Given the description of an element on the screen output the (x, y) to click on. 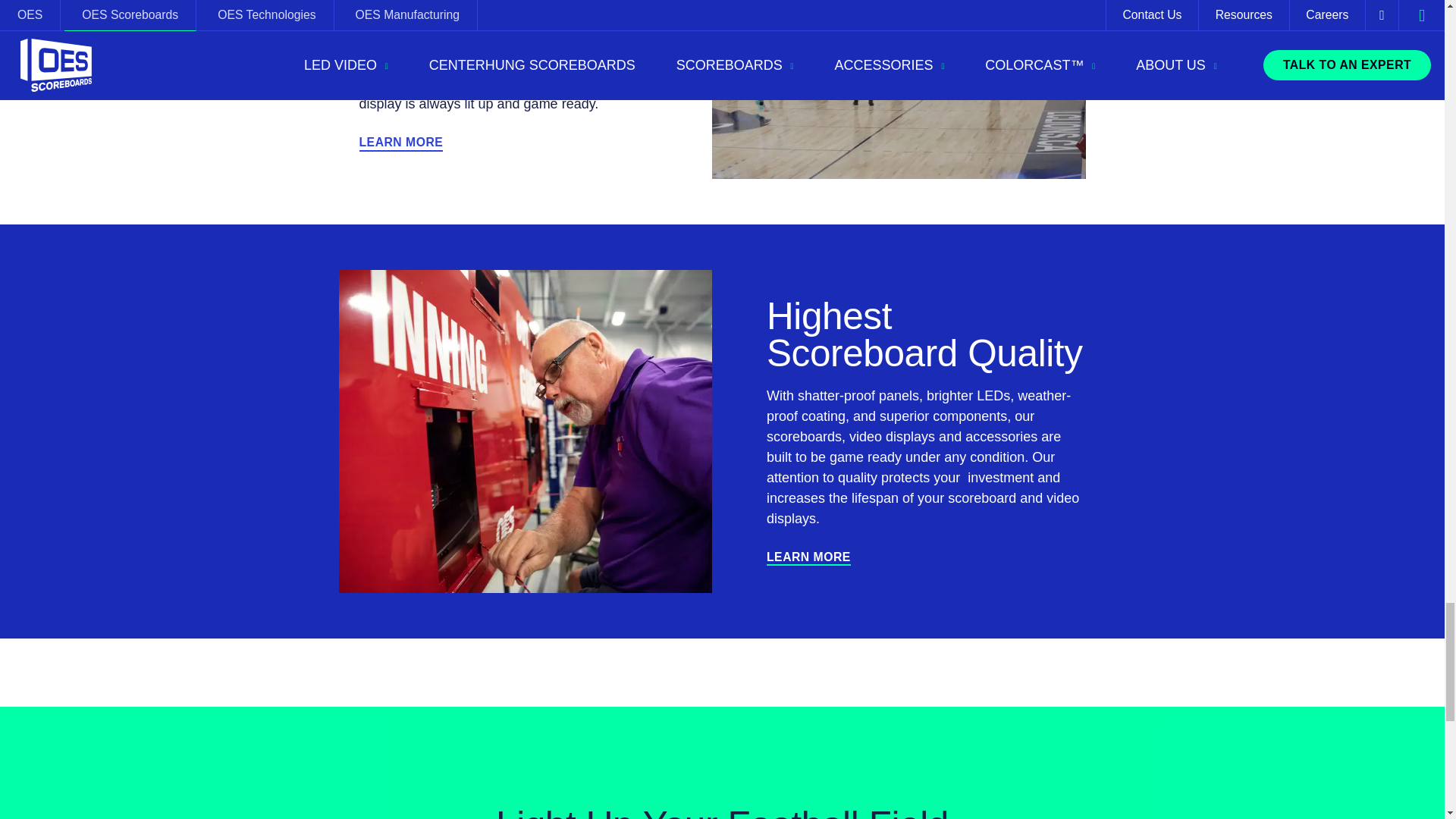
General Subpage (401, 143)
Scoreboards (808, 557)
